Given the description of an element on the screen output the (x, y) to click on. 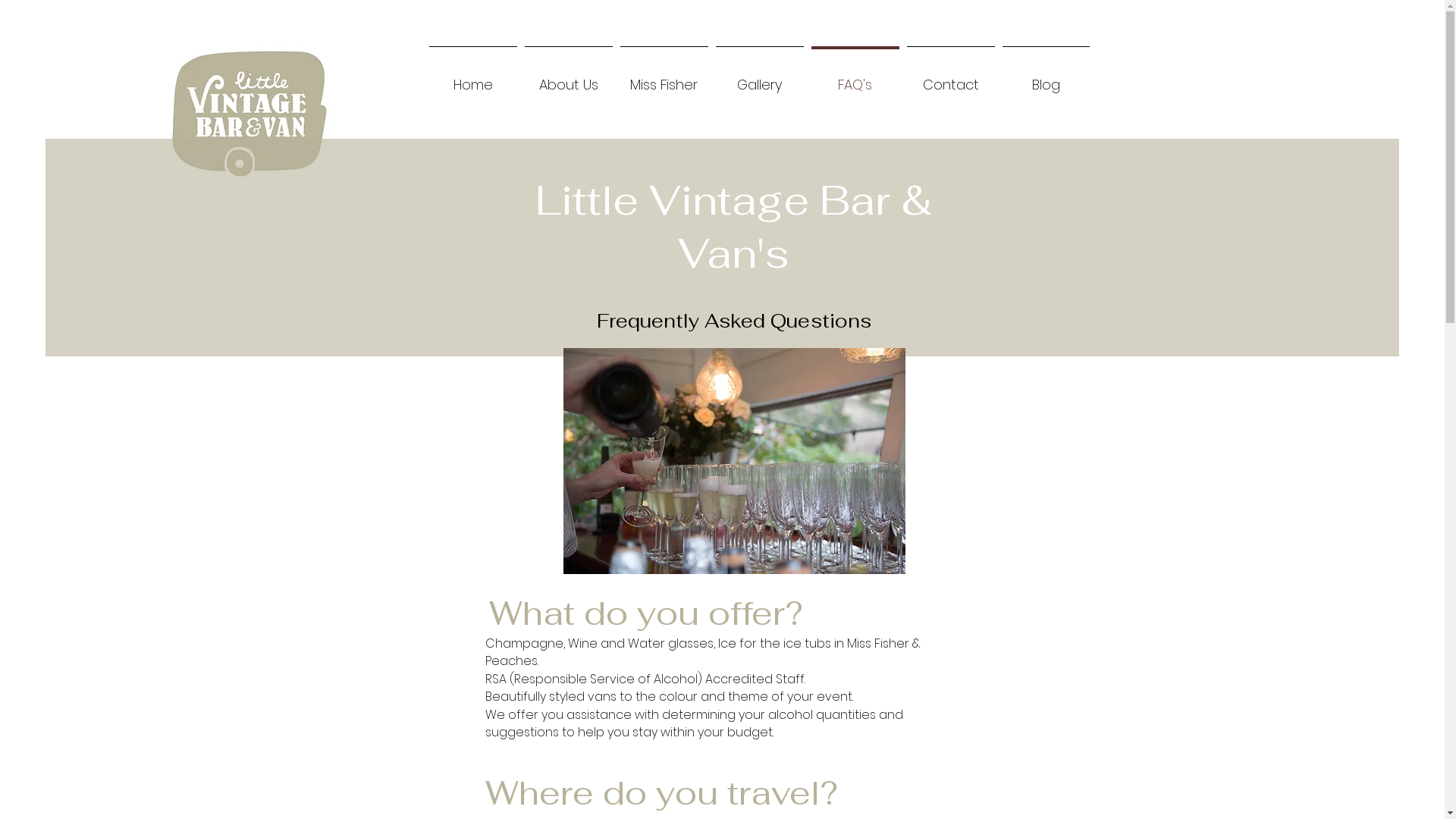
Home Element type: text (472, 77)
Blog Element type: text (1044, 77)
FAQ's Element type: text (854, 77)
Miss Fisher Element type: text (663, 77)
Gallery Element type: text (758, 77)
Contact Element type: text (949, 77)
About Us Element type: text (567, 77)
